Given the description of an element on the screen output the (x, y) to click on. 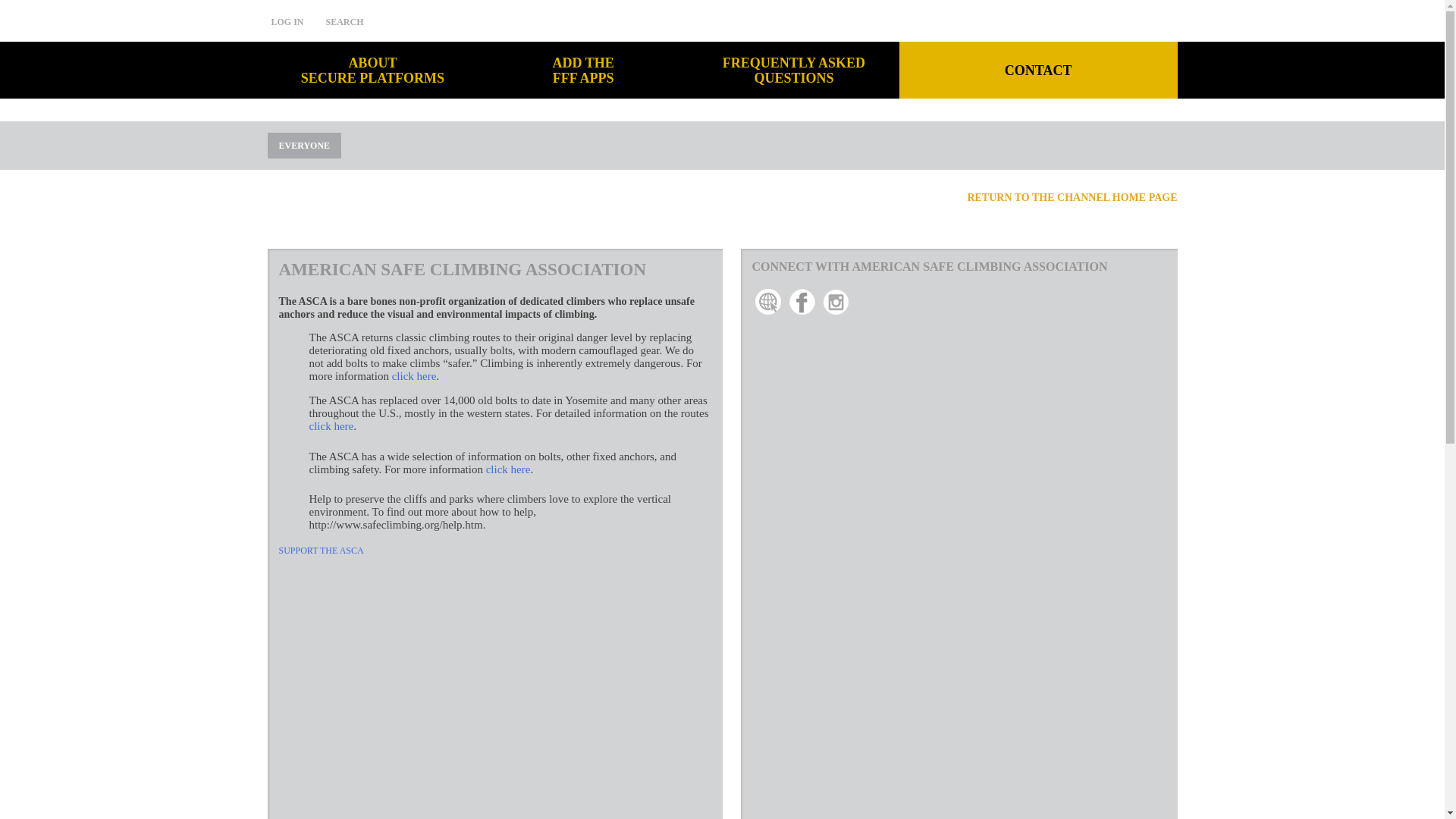
CONTACT (1038, 69)
CONNECT WITH AMERICAN SAFE CLIMBING ASSOCIATION (793, 69)
LOG IN (959, 288)
SEARCH (287, 21)
